Given the description of an element on the screen output the (x, y) to click on. 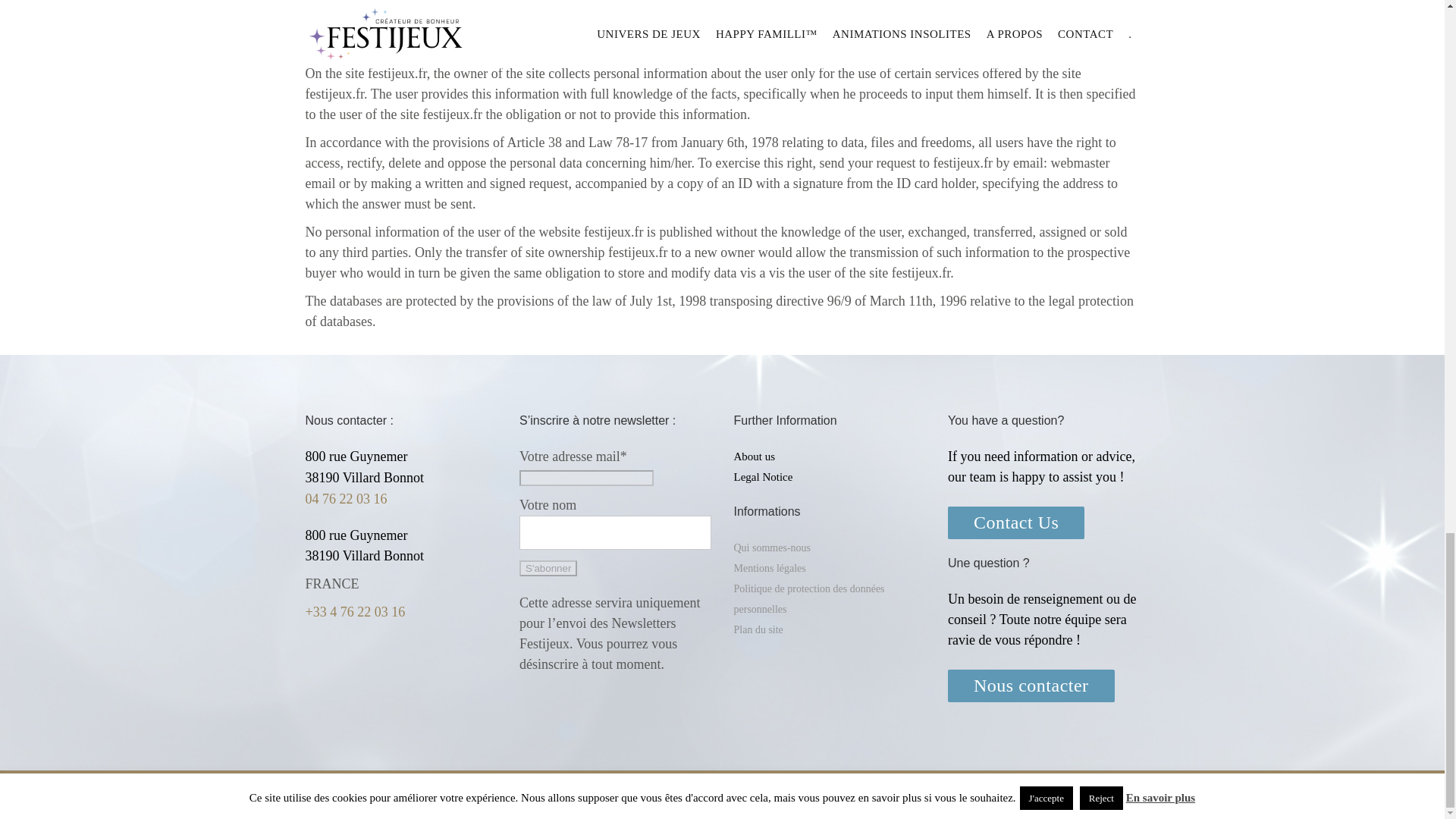
About us (754, 456)
04 76 22 03 16 (345, 498)
S'abonner (547, 568)
Qui sommes-nous (771, 548)
Legal Notice (763, 477)
S'abonner (547, 568)
